Given the description of an element on the screen output the (x, y) to click on. 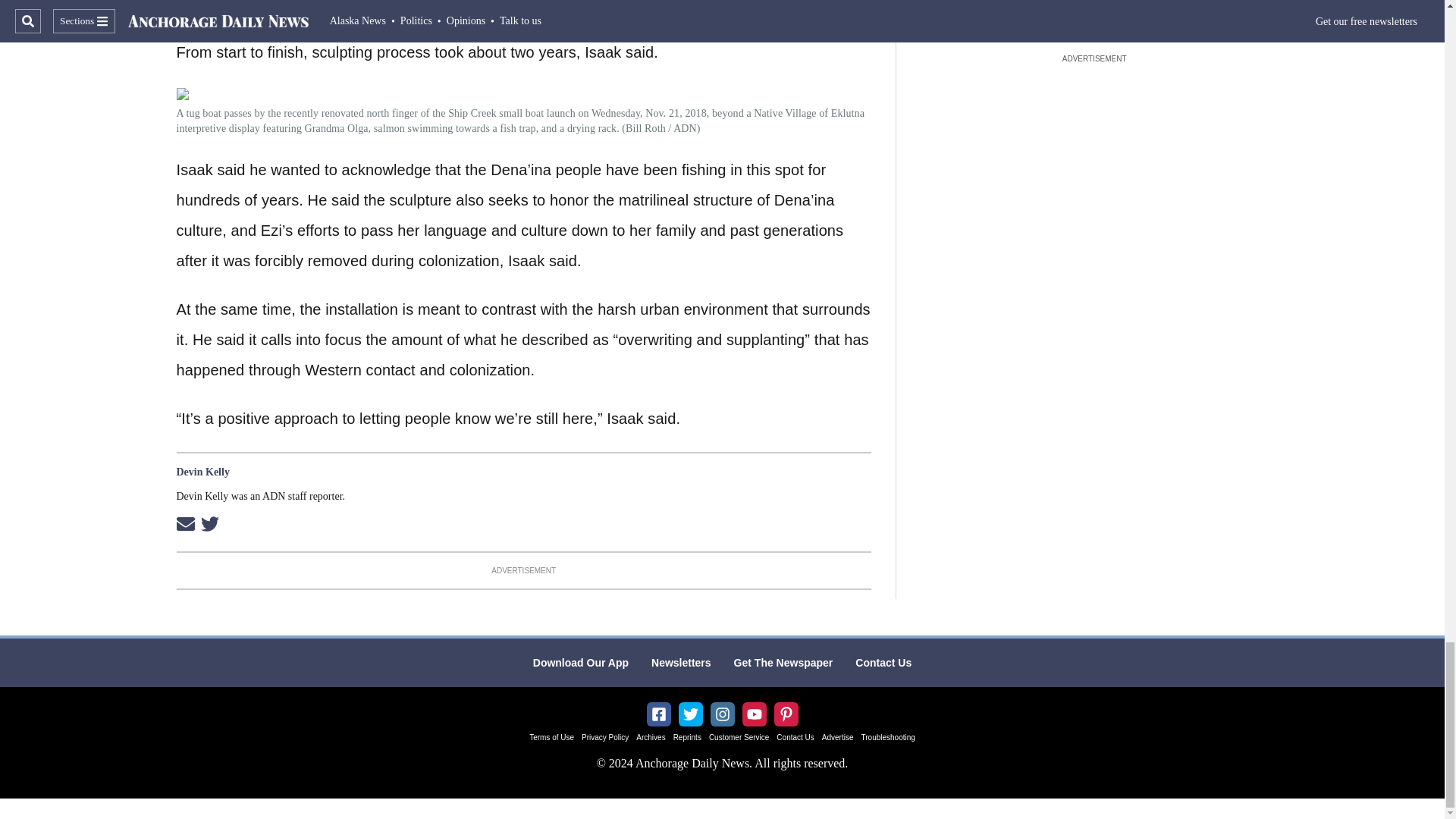
Twitter IconTwitter Account for Anchorage Daily News (689, 713)
Facebook IconAnchorage Daily News Facebook Page (657, 713)
YouTube iconAnchorage Daily News YouTube channel (753, 713)
PinterestAnchorage Daily News Pinterest Account (785, 713)
Instagram IconAnchorage Daily News instagram account (721, 713)
